Given the description of an element on the screen output the (x, y) to click on. 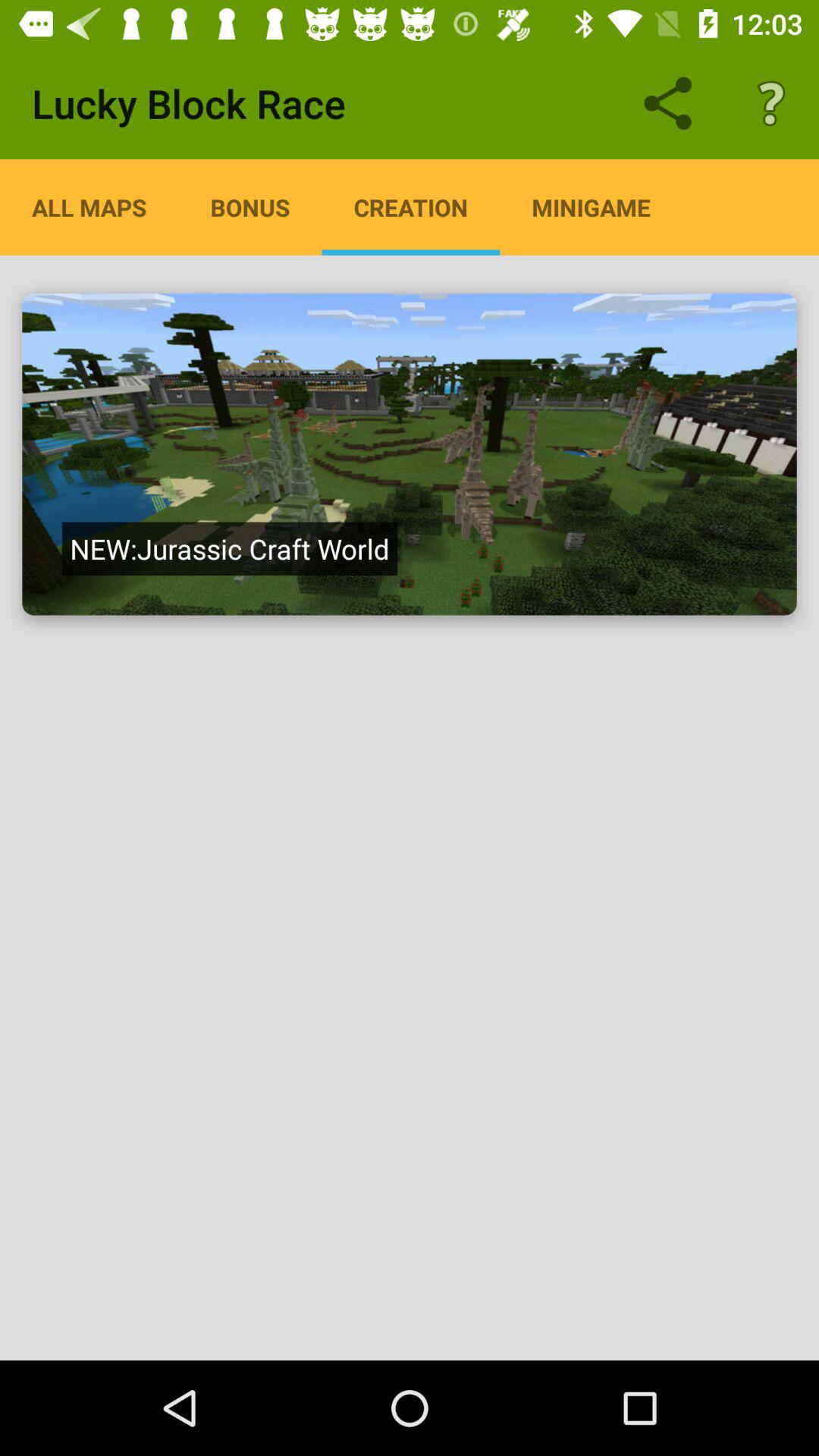
press the item next to creation app (590, 207)
